Given the description of an element on the screen output the (x, y) to click on. 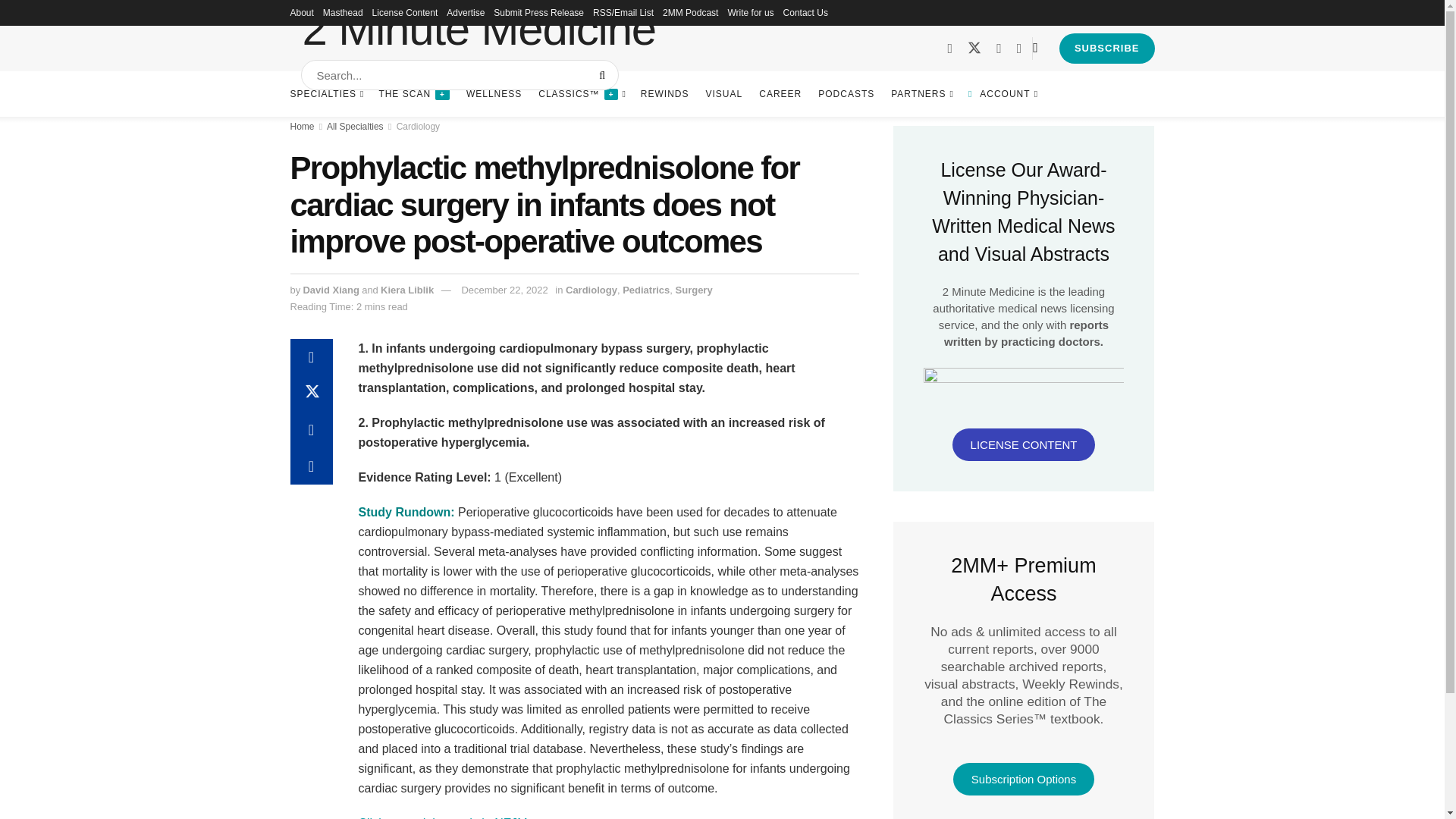
Submit Press Release (538, 12)
Masthead (342, 12)
Advertise (465, 12)
Contact Us (805, 12)
SPECIALTIES (325, 94)
SUBSCRIBE (1106, 48)
About (301, 12)
License Content (405, 12)
Write for us (749, 12)
2MM Podcast (689, 12)
